Given the description of an element on the screen output the (x, y) to click on. 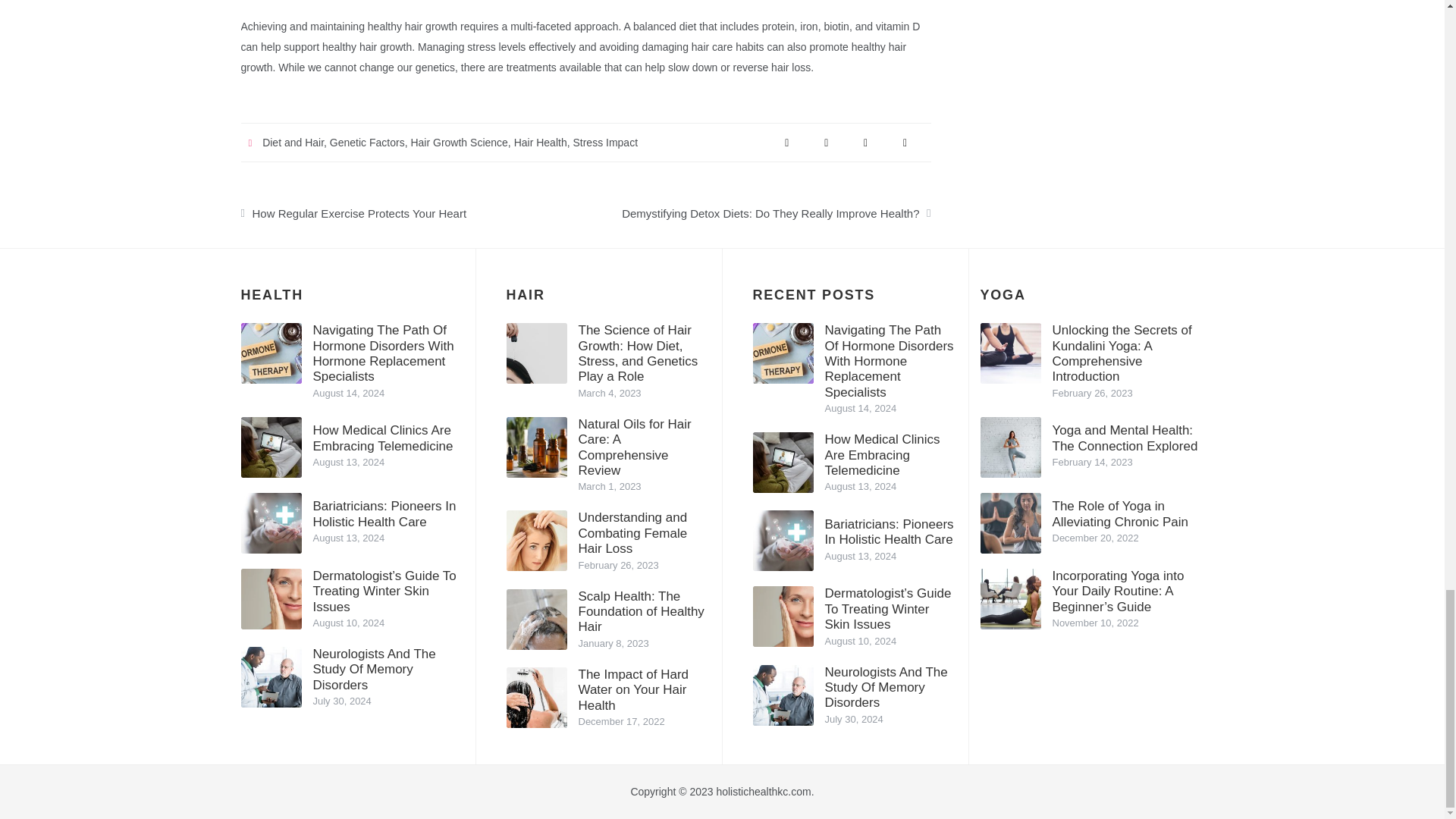
Hair Health (540, 142)
Stress Impact (604, 142)
Diet and Hair (292, 142)
Hair Growth Science (458, 142)
Genetic Factors (367, 142)
How Regular Exercise Protects Your Heart (412, 209)
Demystifying Detox Diets: Do They Really Improve Health? (758, 209)
